Given the description of an element on the screen output the (x, y) to click on. 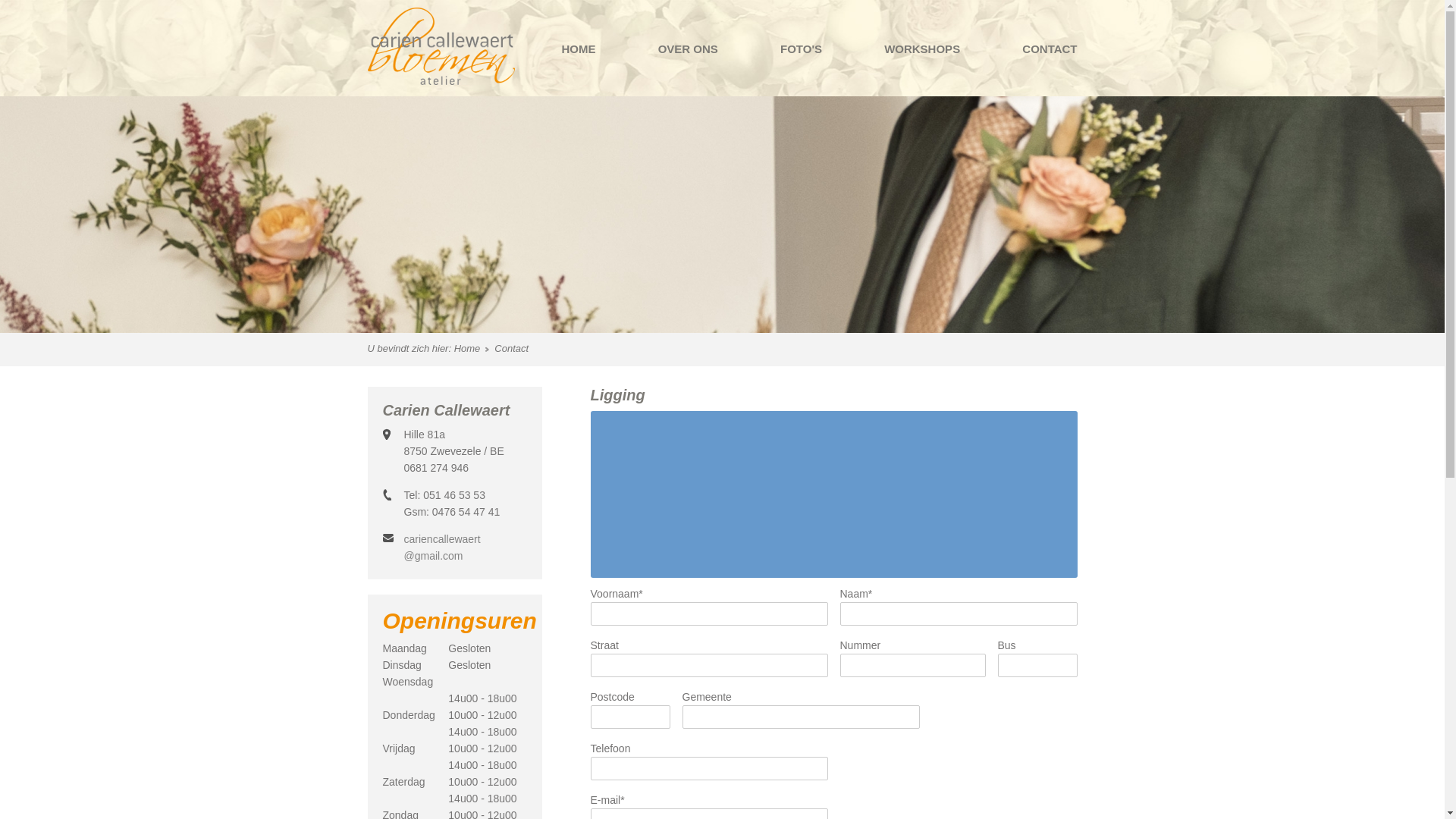
OVER ONS Element type: text (688, 49)
FOTO'S Element type: text (801, 49)
Home Element type: text (471, 348)
HOME Element type: text (578, 49)
cariencallewaert
@gmail.com Element type: text (441, 547)
CONTACT Element type: text (1049, 49)
WORKSHOPS Element type: text (922, 49)
